Given the description of an element on the screen output the (x, y) to click on. 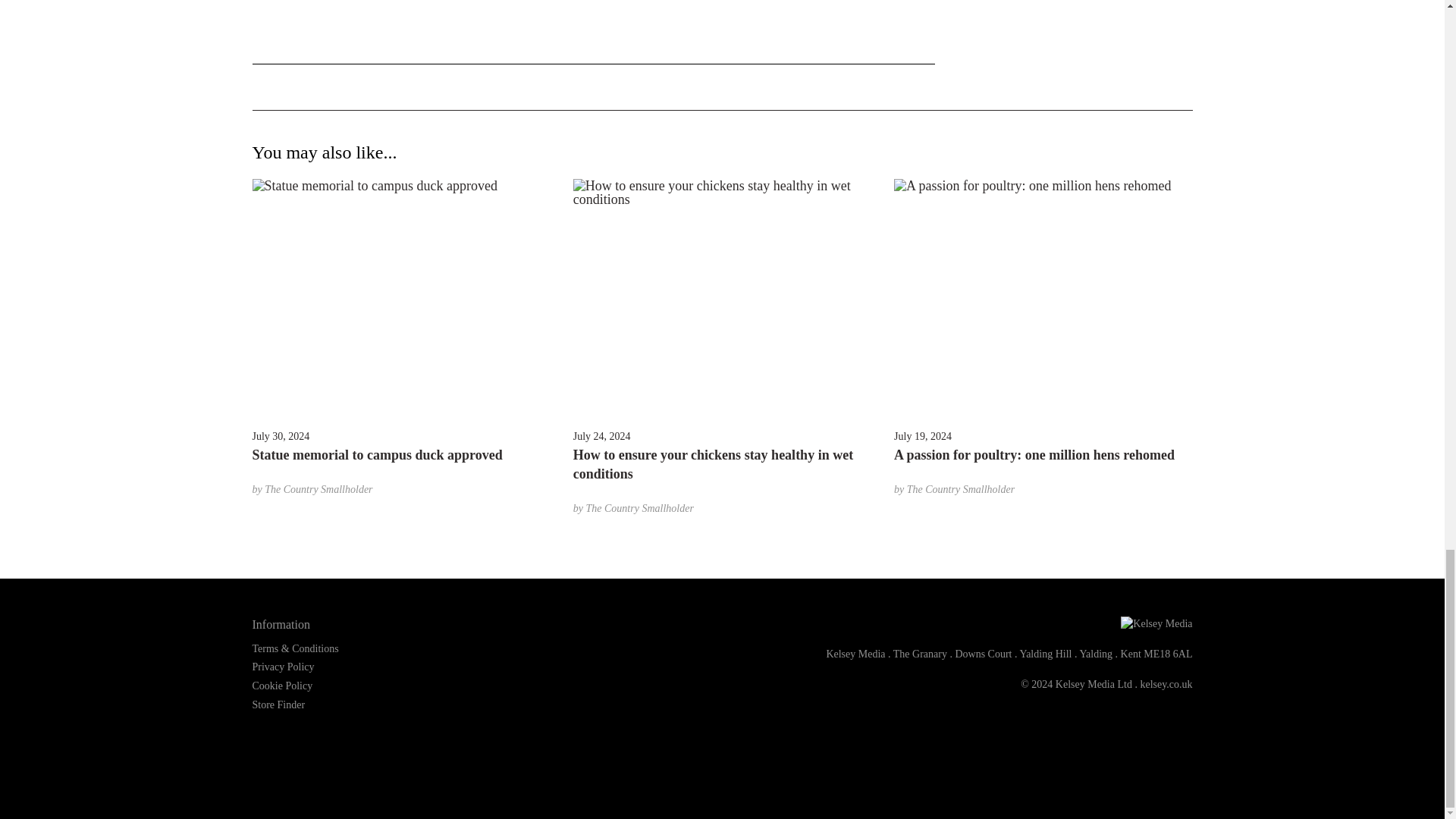
kelsey.co.uk (1166, 684)
Store Finder (277, 704)
Cookie Policy (282, 685)
Privacy Policy (282, 666)
